Given the description of an element on the screen output the (x, y) to click on. 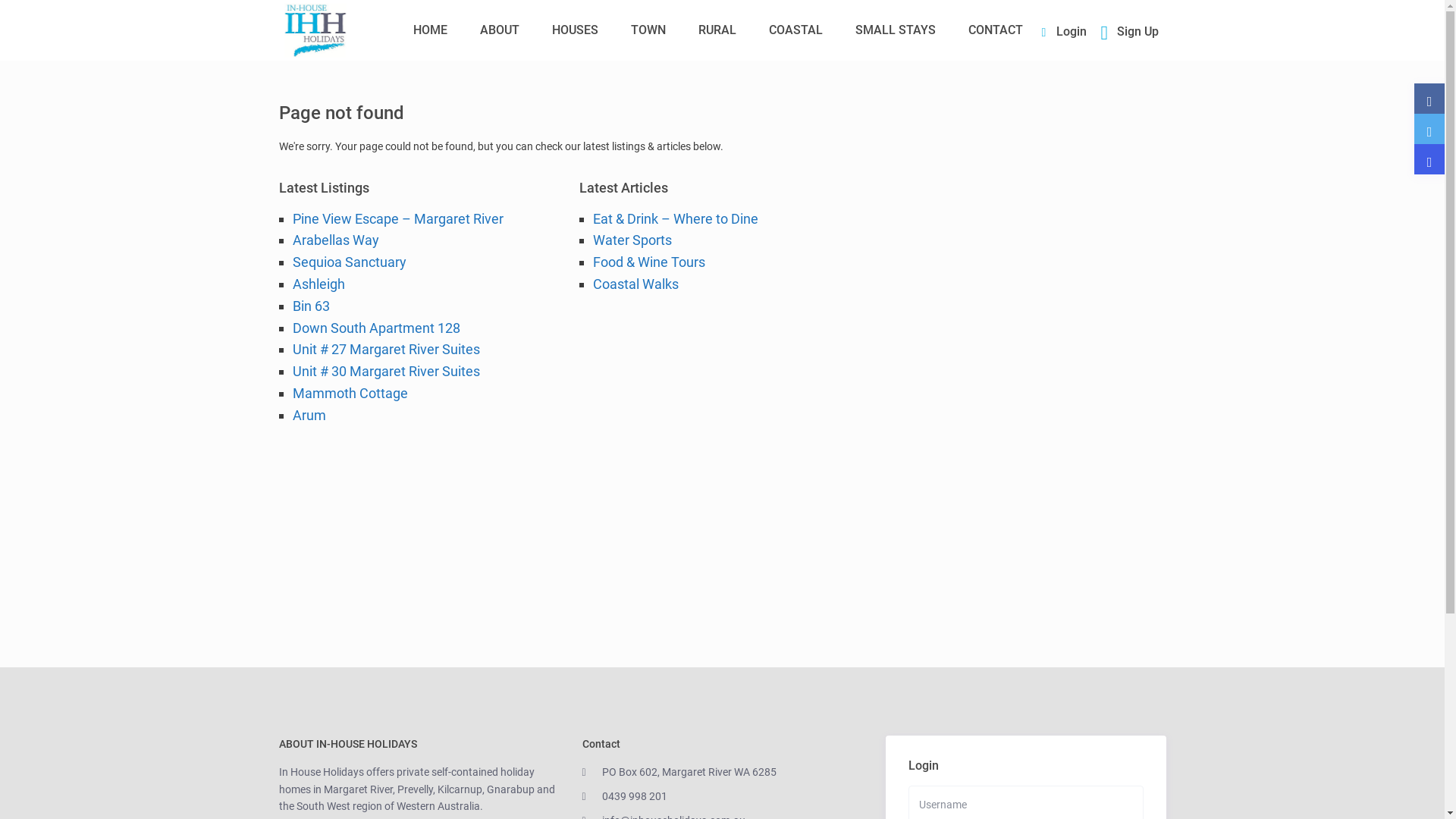
CONTACT Element type: text (995, 30)
Mammoth Cottage Element type: text (349, 393)
Unit # 30 Margaret River Suites Element type: text (386, 371)
ABOUT Element type: text (499, 30)
HOUSES Element type: text (574, 30)
Food & Wine Tours Element type: text (649, 261)
Arum Element type: text (309, 415)
Bin 63 Element type: text (310, 305)
0439 998 201 Element type: text (634, 796)
HOME Element type: text (430, 30)
Water Sports Element type: text (632, 239)
Ashleigh Element type: text (318, 283)
Sequioa Sanctuary Element type: text (349, 261)
SMALL STAYS Element type: text (895, 30)
RURAL Element type: text (717, 30)
Down South Apartment 128 Element type: text (376, 327)
TOWN Element type: text (647, 30)
Unit # 27 Margaret River Suites Element type: text (386, 349)
COASTAL Element type: text (795, 30)
Arabellas Way Element type: text (335, 239)
Coastal Walks Element type: text (635, 283)
